Given the description of an element on the screen output the (x, y) to click on. 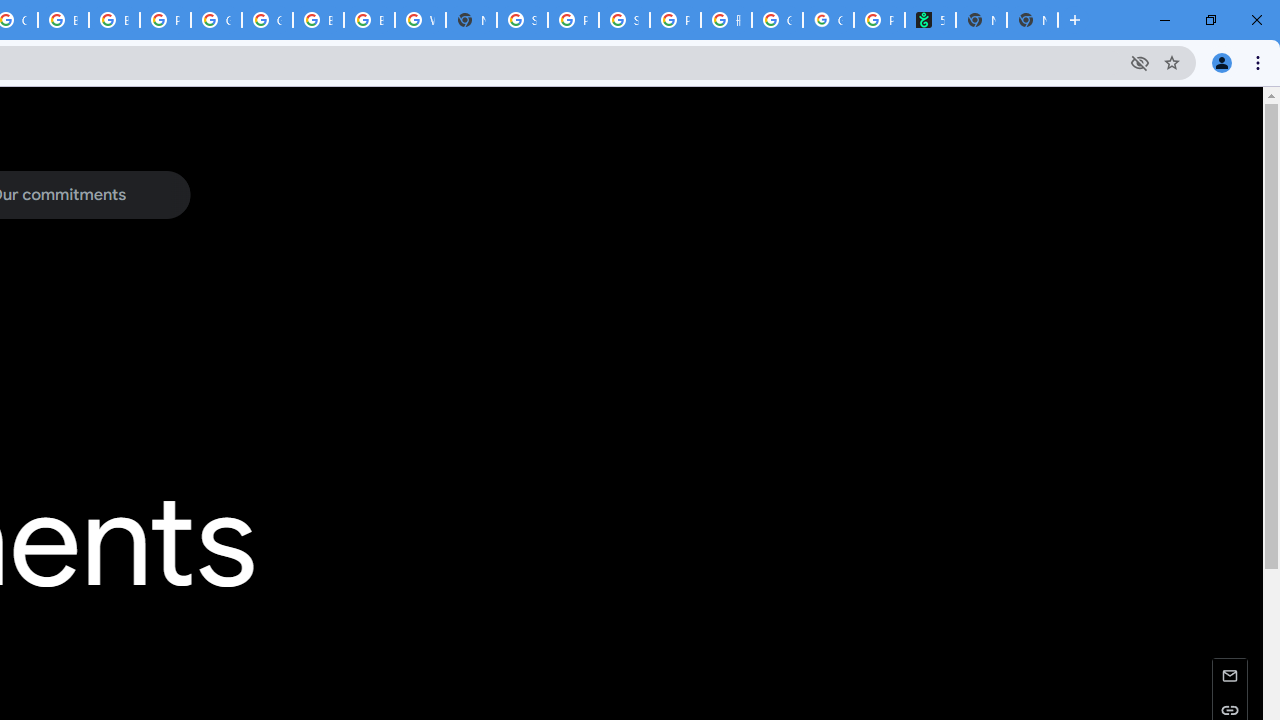
Share this page (Email) (1230, 674)
Sign in - Google Accounts (521, 20)
New Tab (470, 20)
Google Cloud Platform (267, 20)
